Given the description of an element on the screen output the (x, y) to click on. 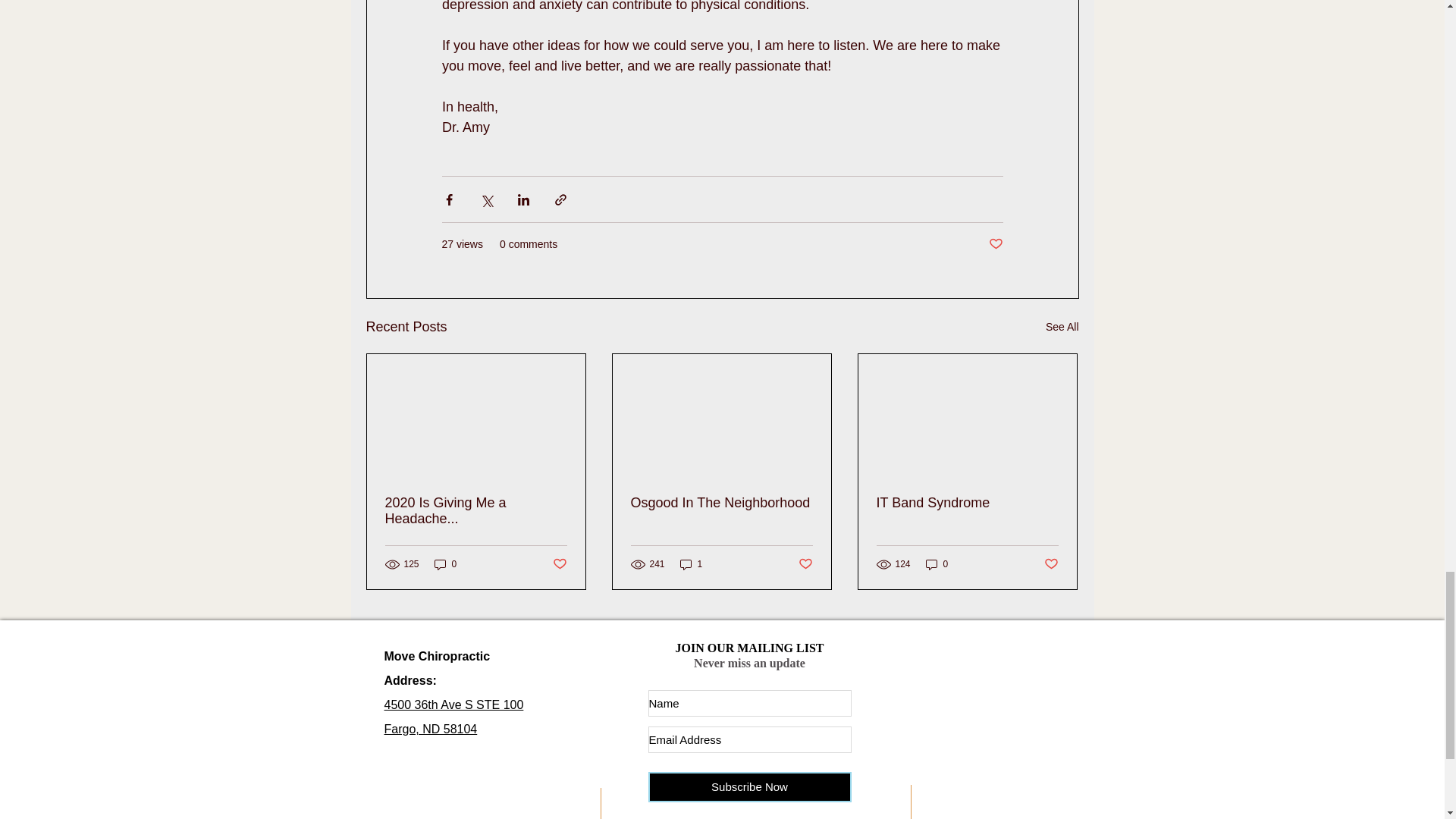
Post not marked as liked (1050, 564)
0 (445, 564)
1 (453, 716)
0 (691, 564)
2020 Is Giving Me a Headache... (937, 564)
Osgood In The Neighborhood (476, 511)
Post not marked as liked (721, 503)
Post not marked as liked (804, 564)
IT Band Syndrome (995, 244)
See All (967, 503)
Subscribe Now (1061, 327)
Post not marked as liked (748, 787)
